Given the description of an element on the screen output the (x, y) to click on. 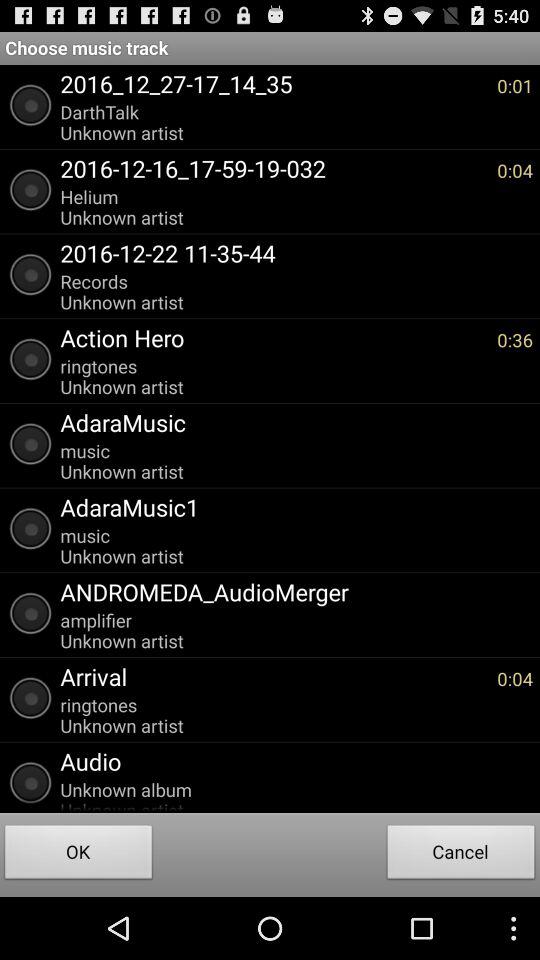
turn off item below the ringtones
unknown artist (291, 761)
